Given the description of an element on the screen output the (x, y) to click on. 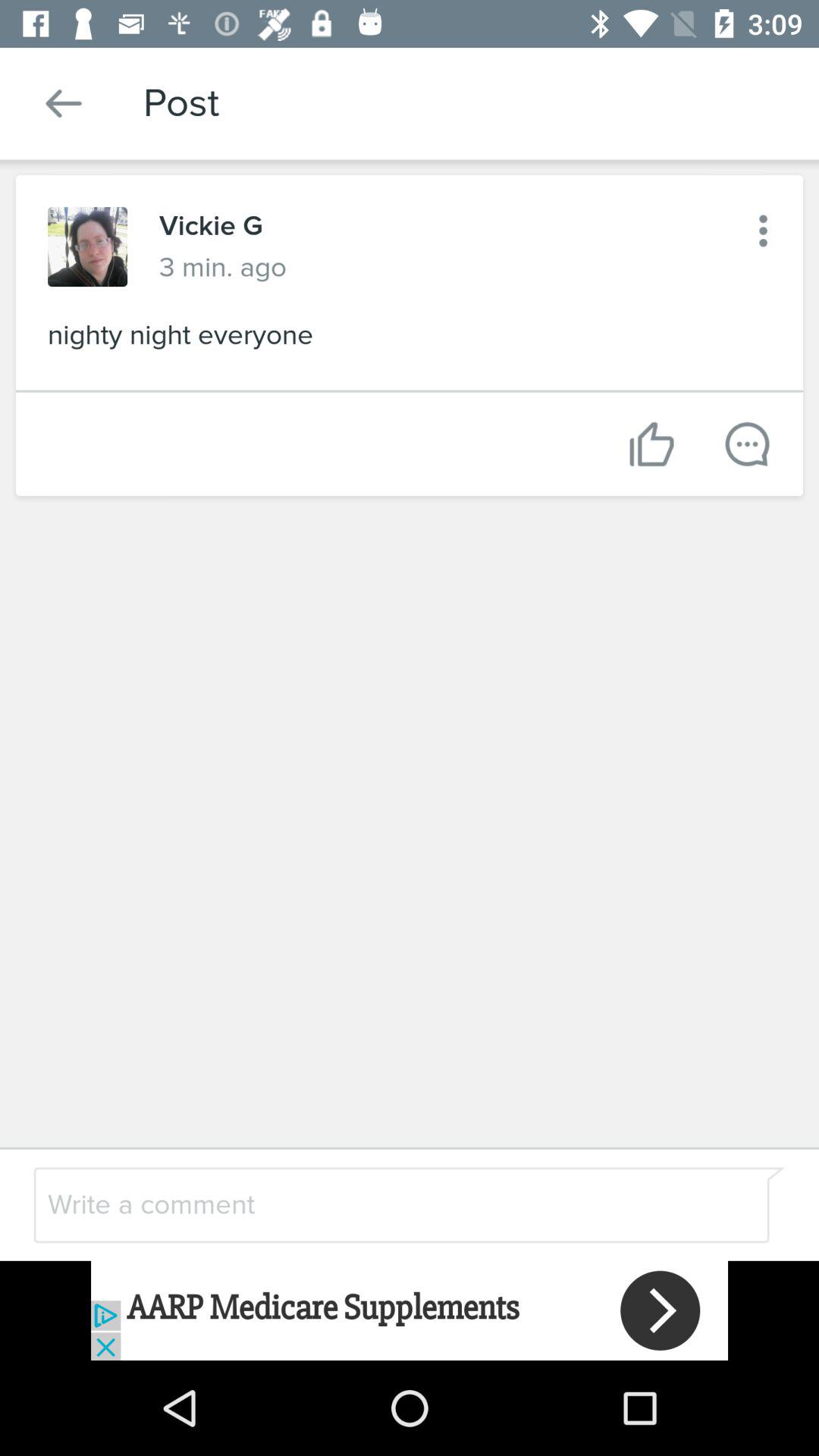
comment (369, 1204)
